Given the description of an element on the screen output the (x, y) to click on. 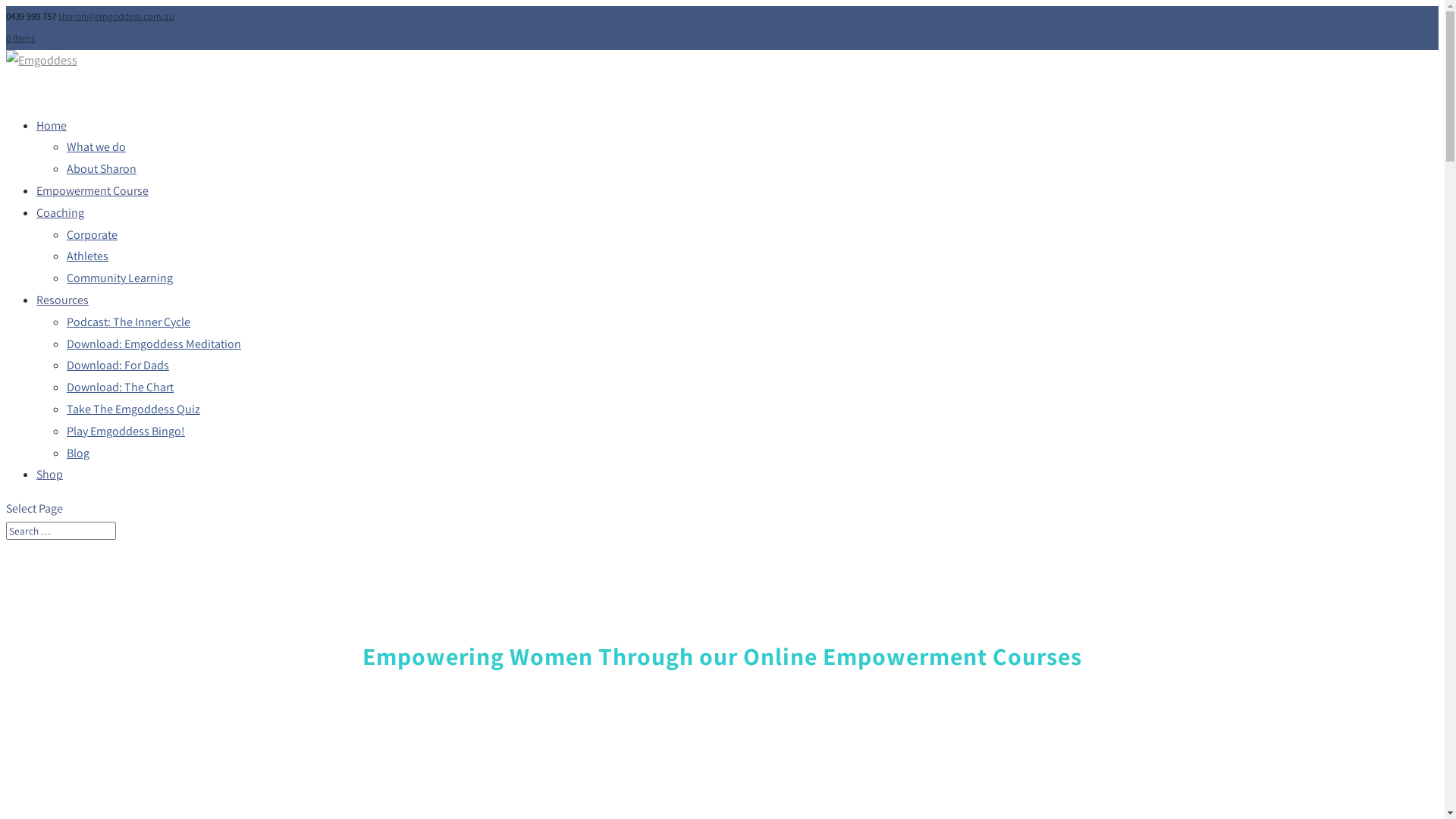
Corporate Element type: text (91, 234)
Play Emgoddess Bingo! Element type: text (125, 431)
Shop Element type: text (49, 479)
About Sharon Element type: text (101, 168)
Download: Emgoddess Meditation Element type: text (153, 343)
Home Element type: text (51, 130)
Athletes Element type: text (87, 255)
Empowerment Course Element type: text (92, 195)
Podcast: The Inner Cycle Element type: text (128, 321)
Community Learning Element type: text (119, 277)
sharon@emgoddess.com.au Element type: text (116, 15)
0 Items Element type: text (20, 37)
Take The Emgoddess Quiz Element type: text (133, 409)
Coaching Element type: text (60, 217)
Resources Element type: text (62, 304)
Search for: Element type: hover (61, 530)
Blog Element type: text (77, 453)
What we do Element type: text (95, 146)
Download: The Chart Element type: text (119, 387)
Download: For Dads Element type: text (117, 365)
